Given the description of an element on the screen output the (x, y) to click on. 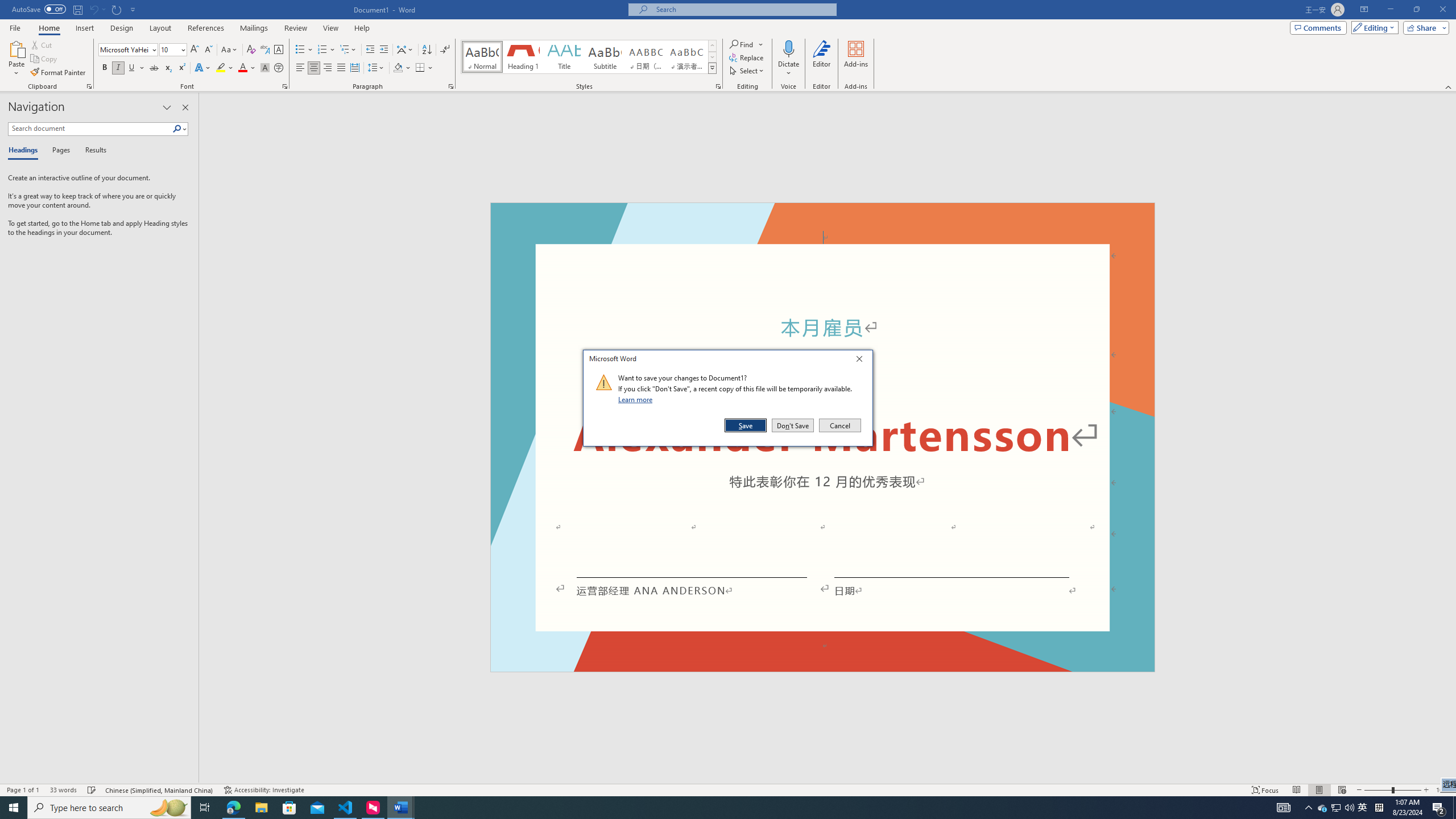
Repeat Italic (117, 9)
AutomationID: QuickStylesGallery (1322, 807)
Visual Studio Code - 1 running window (588, 56)
